Given the description of an element on the screen output the (x, y) to click on. 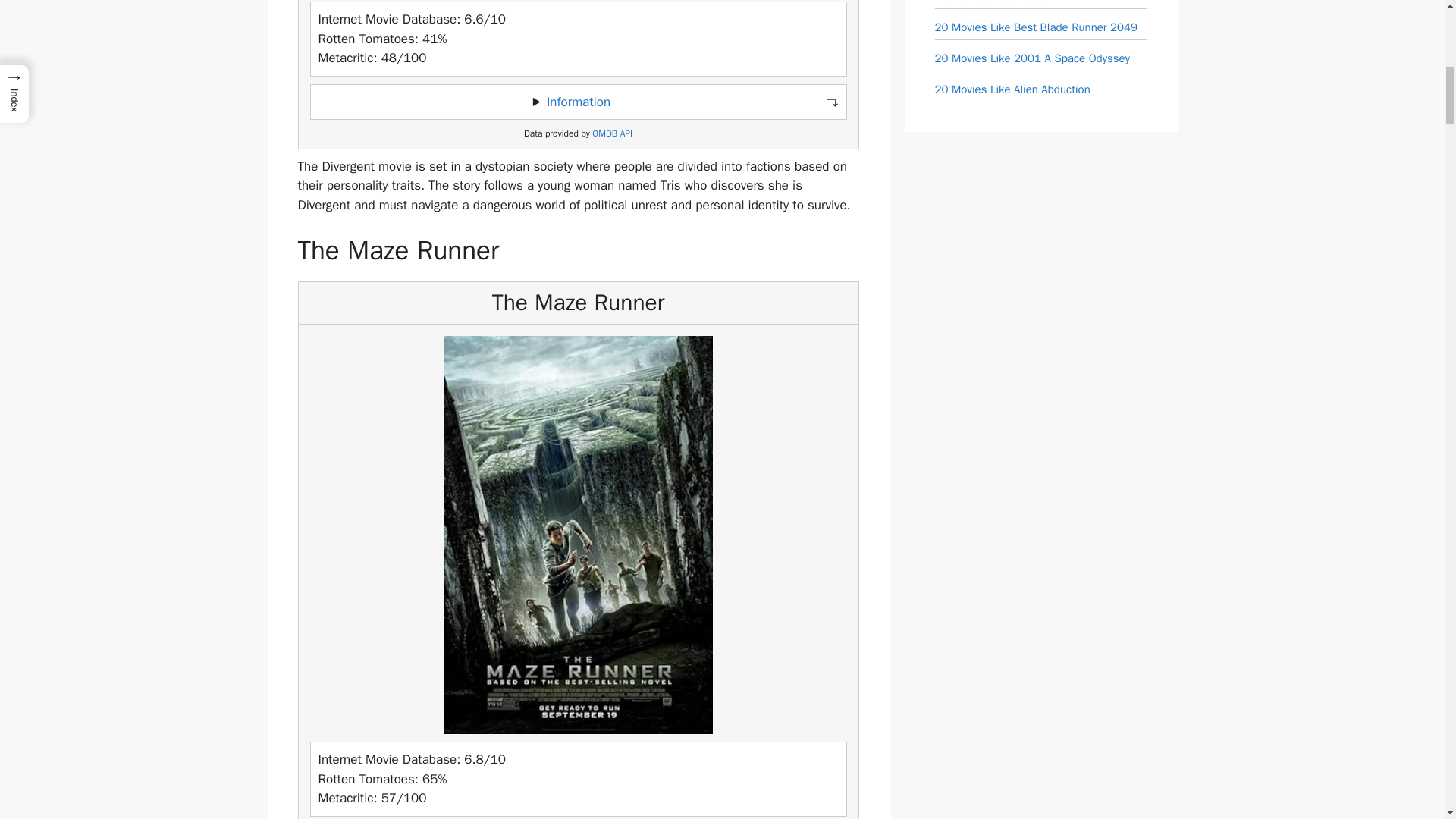
Information (578, 101)
Open Movie Database API (611, 133)
Toggle information (578, 102)
OMDB API (611, 133)
